Given the description of an element on the screen output the (x, y) to click on. 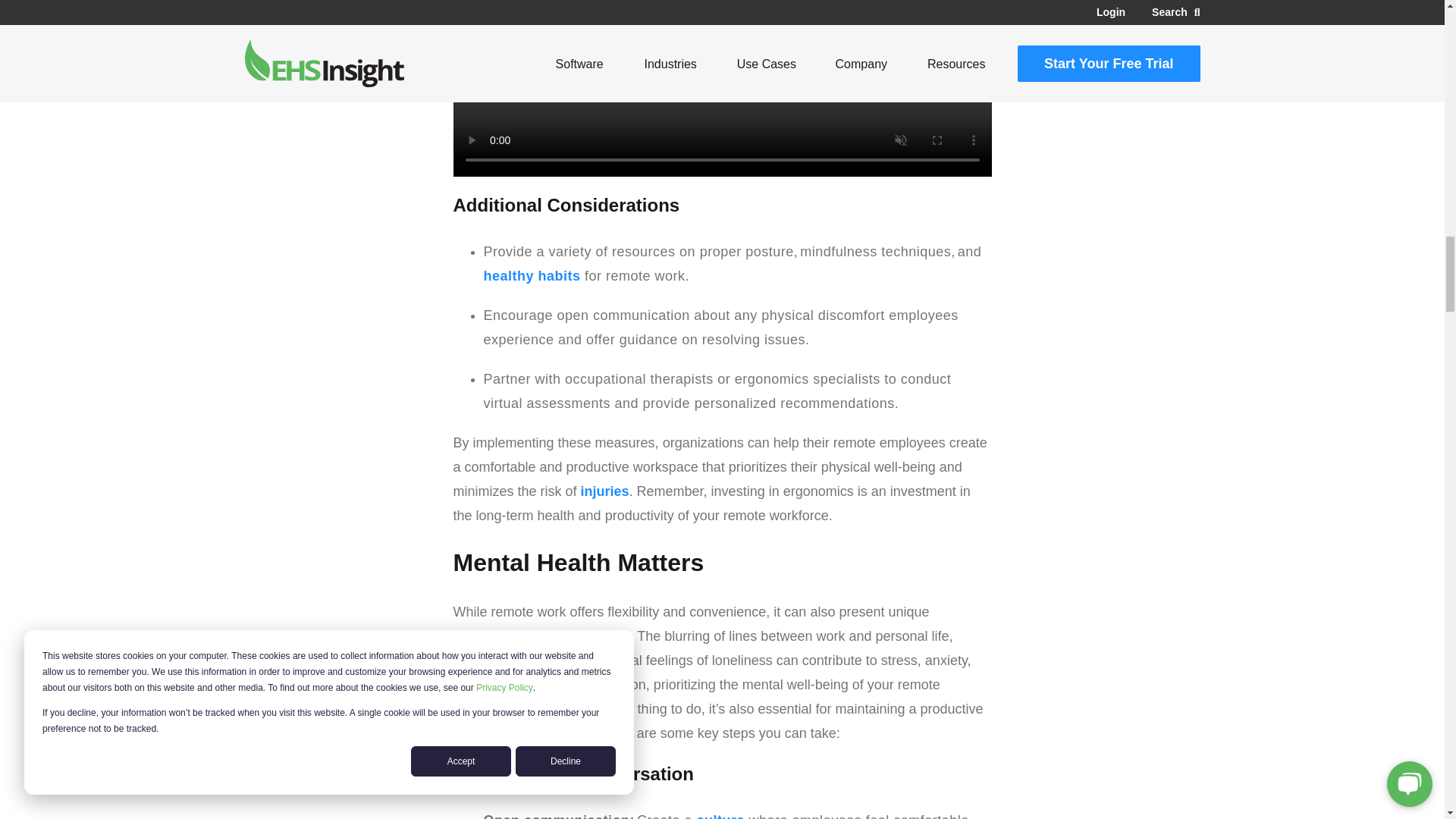
HubSpot Video (721, 88)
